Given the description of an element on the screen output the (x, y) to click on. 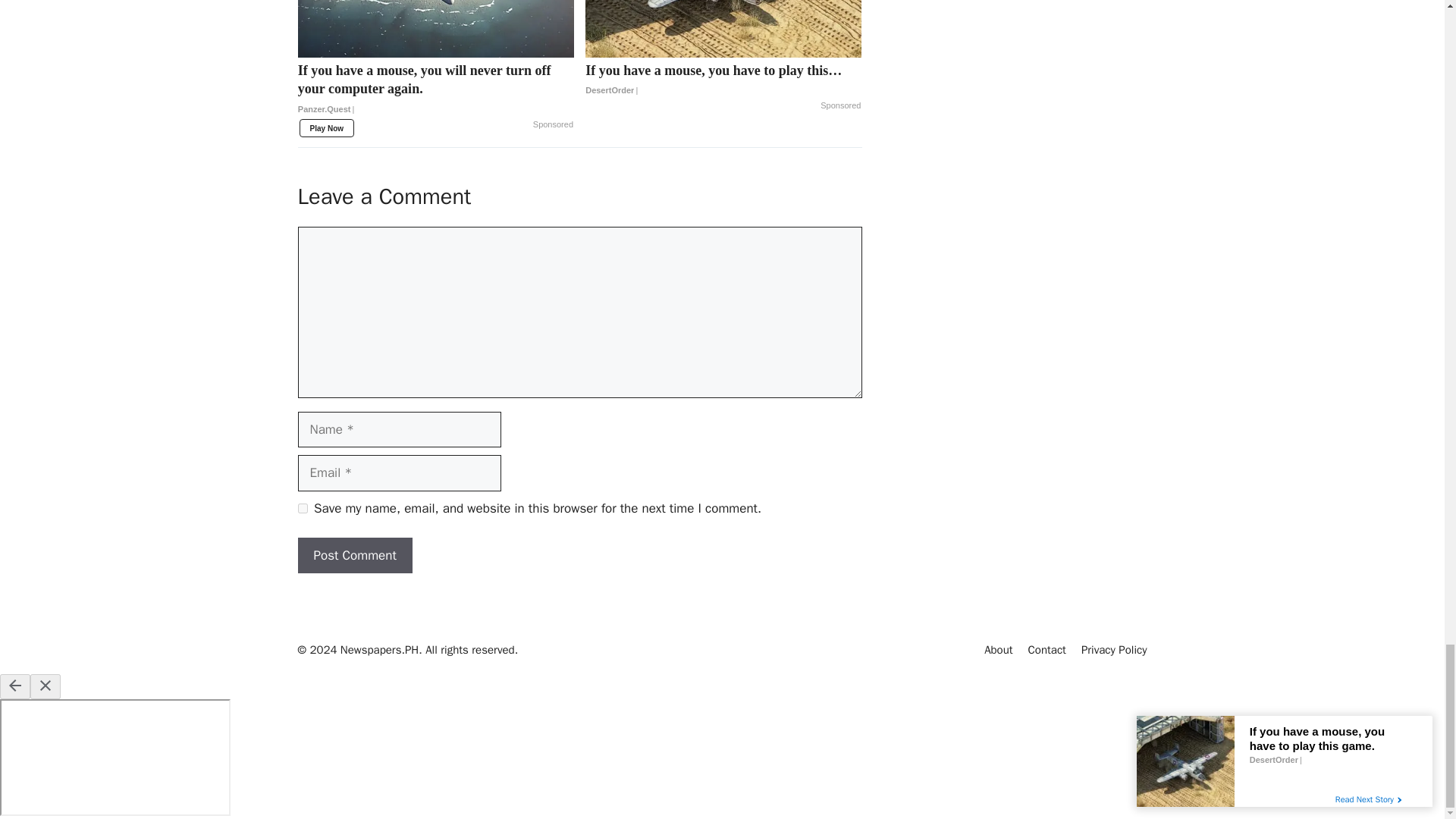
Post Comment (354, 555)
yes (302, 508)
